Given the description of an element on the screen output the (x, y) to click on. 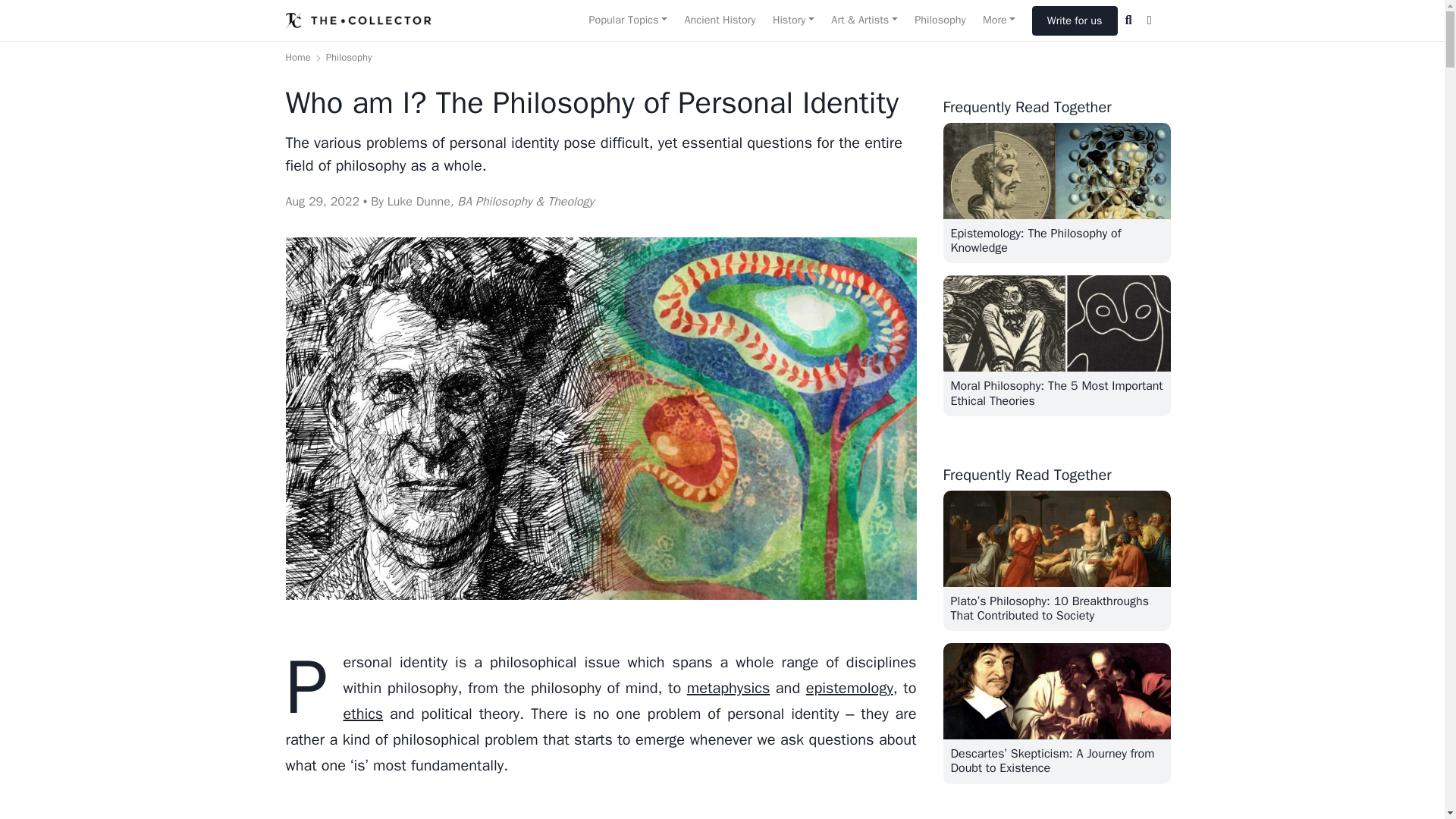
Philosophy (939, 20)
More (999, 20)
Ancient History (718, 20)
History (793, 20)
Write for us (1075, 20)
Popular Topics (627, 20)
